Given the description of an element on the screen output the (x, y) to click on. 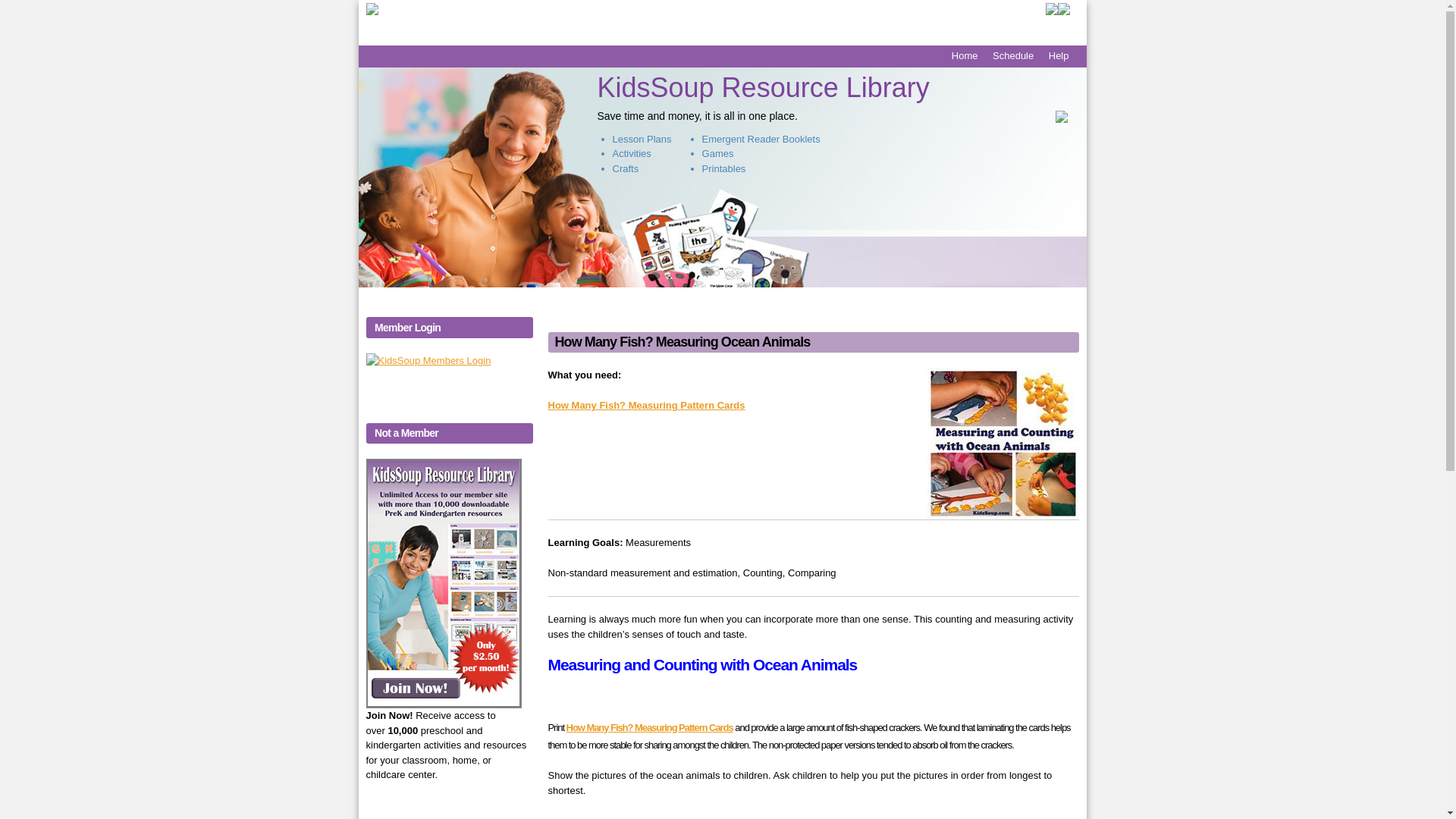
Schedule (1012, 55)
How Many Fish? Measuring Ocean Animals (681, 341)
Find out more (403, 808)
Home (965, 55)
How Many Fish? Measuring Pattern Cards (649, 727)
Skip to main content (693, 1)
Help (1058, 55)
How Many Fish? Measuring Pattern Cards (645, 405)
How Many Fish? Measuring Ocean Animals (681, 341)
KidsSoup Members Login (427, 360)
